Given the description of an element on the screen output the (x, y) to click on. 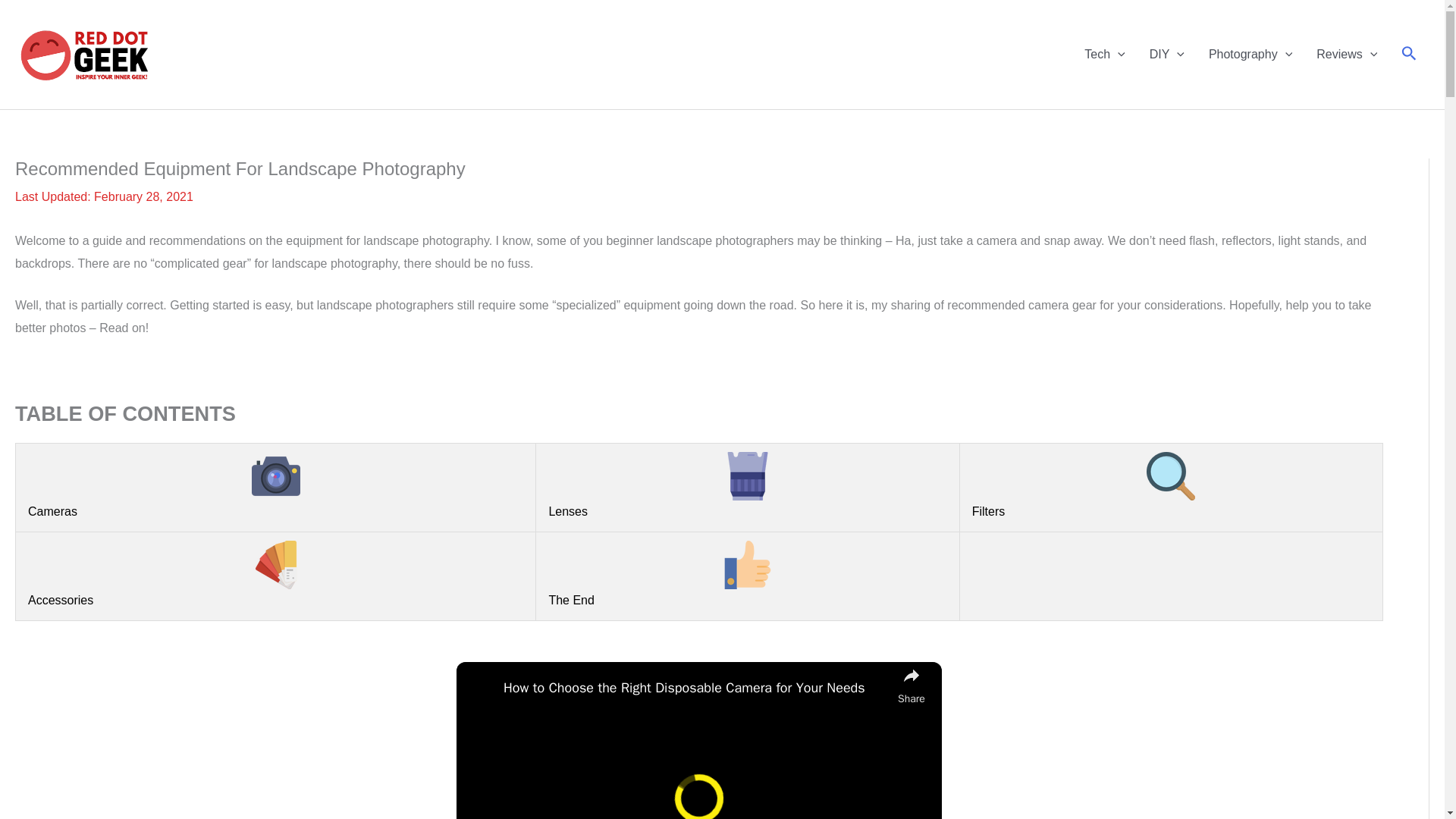
Cameras (274, 484)
Lenses (747, 484)
Reviews (1346, 54)
Filters (1171, 484)
Tech (1104, 54)
Accessories (274, 573)
DIY (1166, 54)
How to Choose the Right Disposable Camera for Your Needs (696, 688)
The End (747, 573)
Photography (1250, 54)
